Given the description of an element on the screen output the (x, y) to click on. 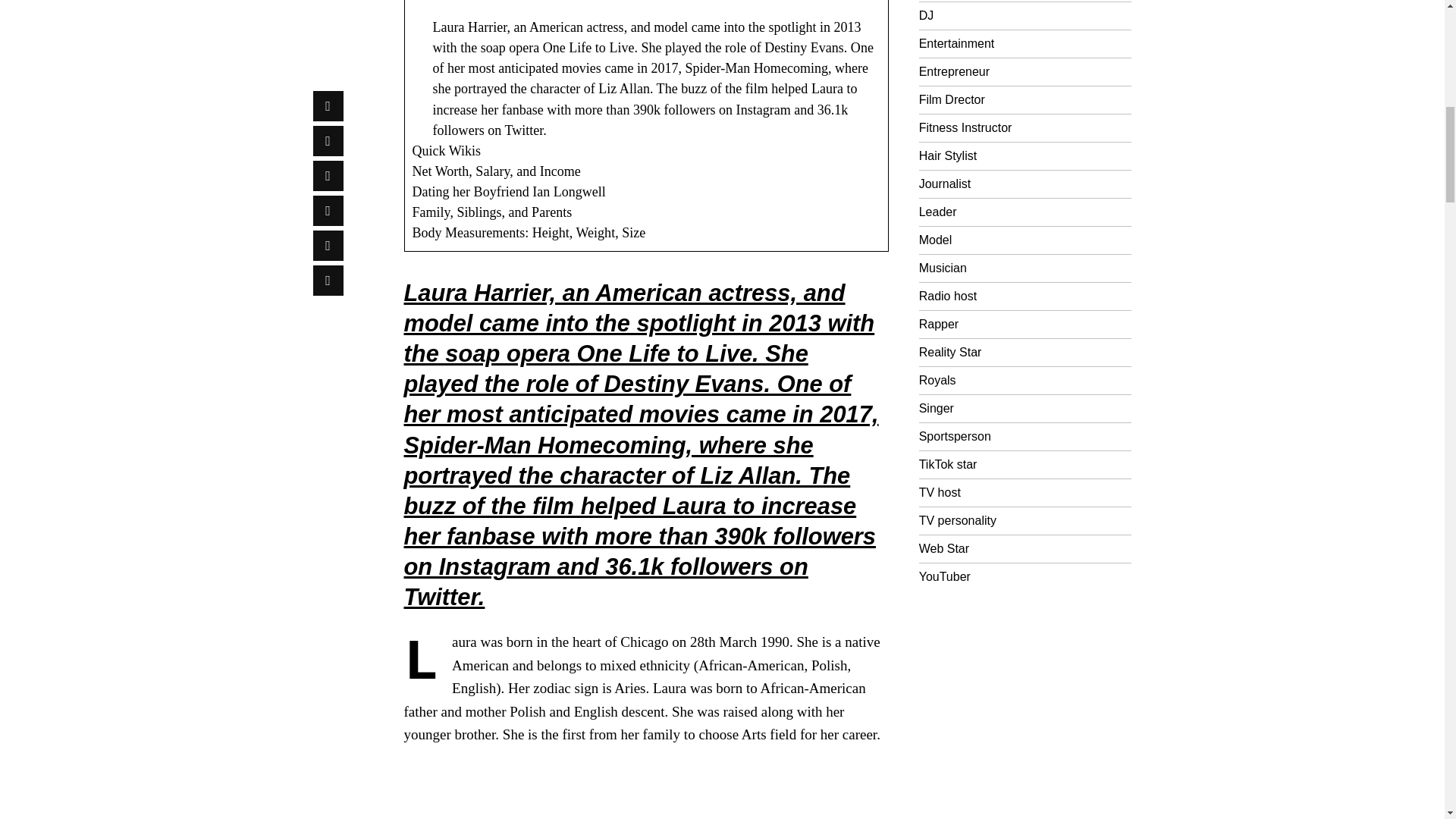
Facebook (327, 2)
Body Measurements: Height, Weight, Size (529, 232)
Whatsapp (327, 128)
Twitter (327, 58)
Dating her Boyfriend Ian Longwell (508, 191)
Email (327, 163)
Messenger (327, 23)
Pinterest (327, 92)
Net Worth, Salary, and Income (496, 171)
